Given the description of an element on the screen output the (x, y) to click on. 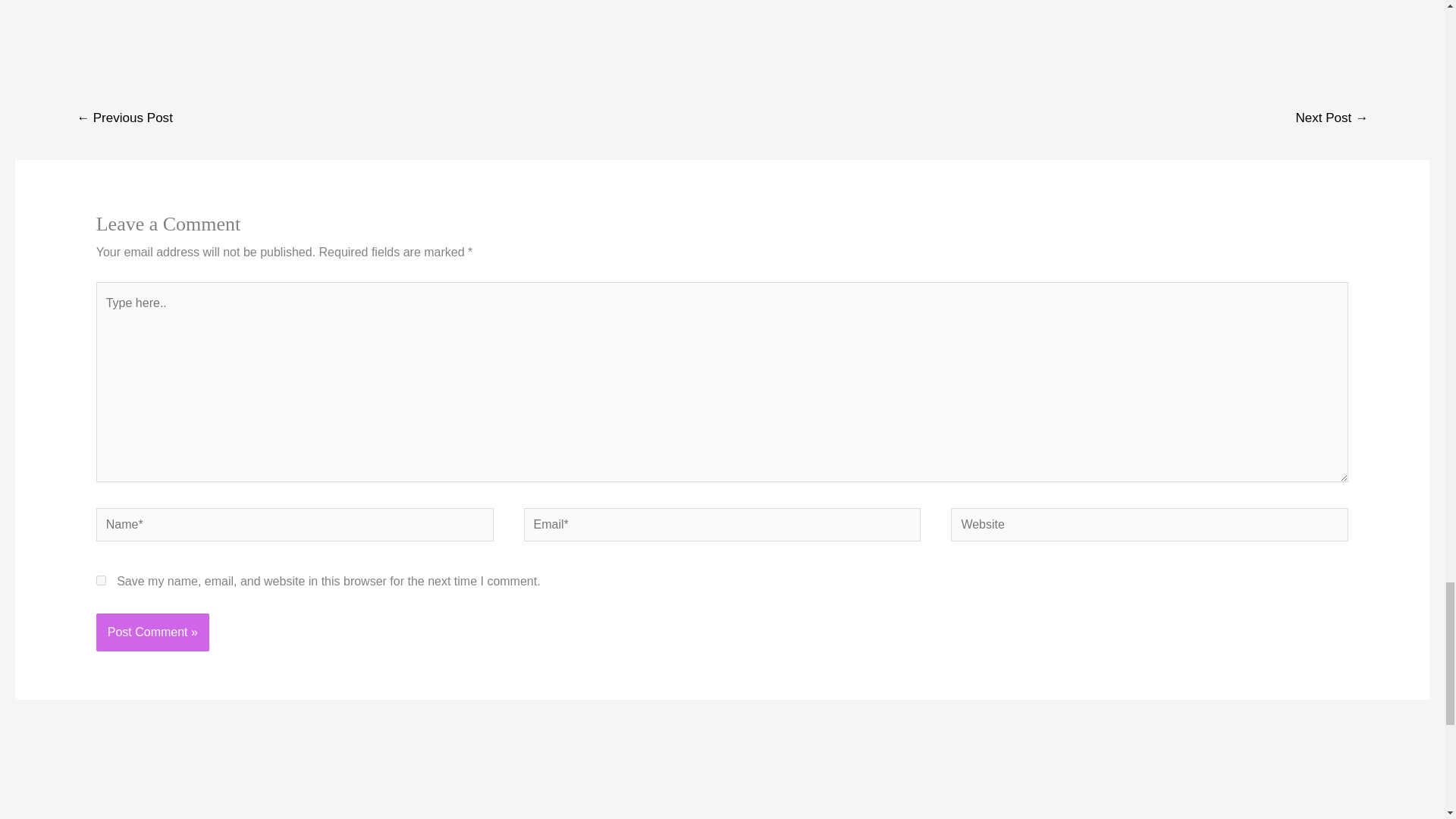
yes (101, 580)
